Given the description of an element on the screen output the (x, y) to click on. 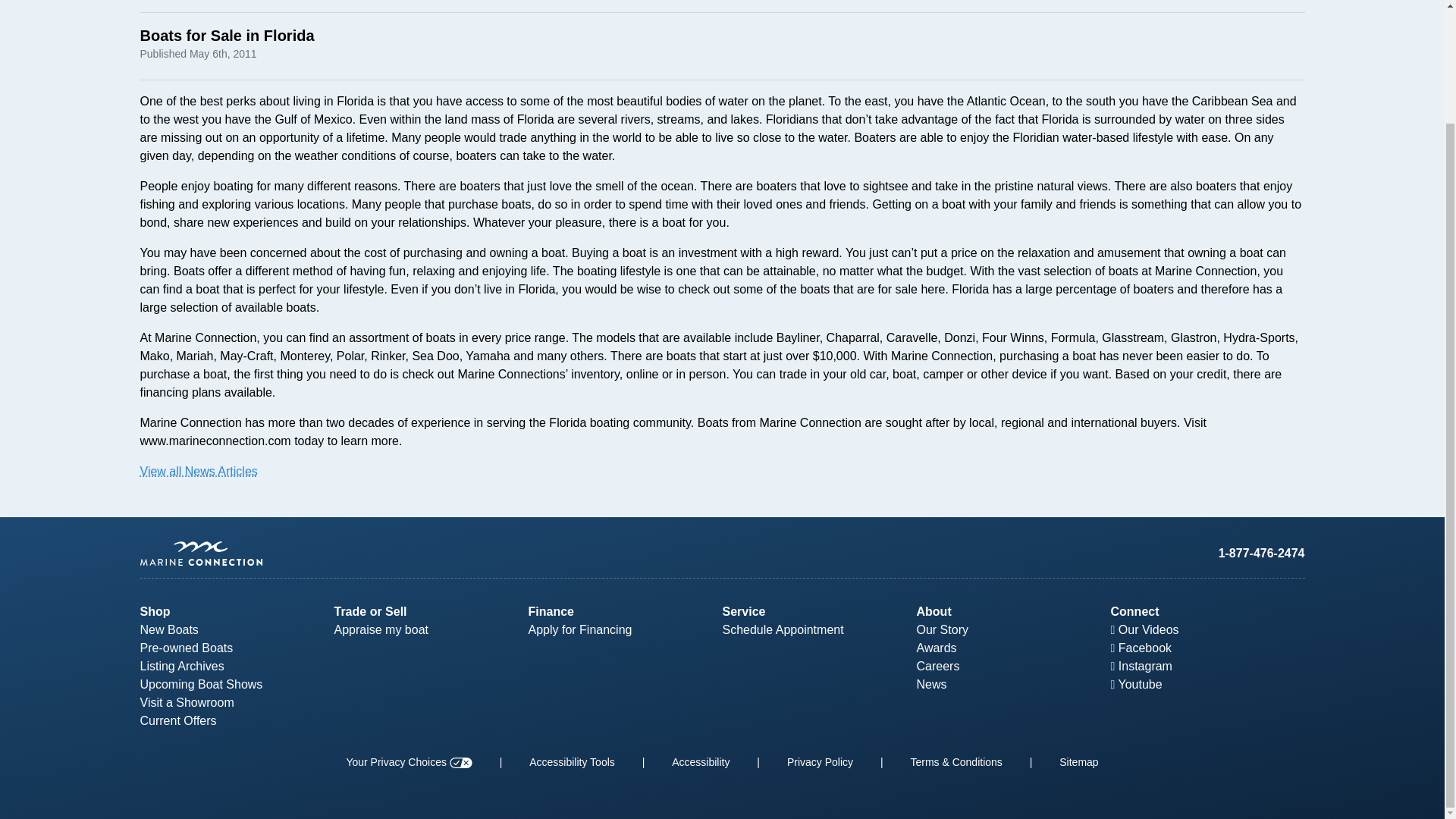
Upcoming Boat Shows (200, 684)
Listing Archives (181, 666)
Visit a Showroom (185, 702)
Appraise my boat (380, 629)
Pre-owned Boats (185, 647)
Trade or Sell (369, 611)
Apply for Financing (579, 629)
Current Offers (177, 720)
1-877-476-2474 (1261, 553)
Service (743, 611)
Shop (154, 611)
New Boats (168, 629)
Finance (550, 611)
Home (430, 553)
View all News Articles (198, 471)
